Given the description of an element on the screen output the (x, y) to click on. 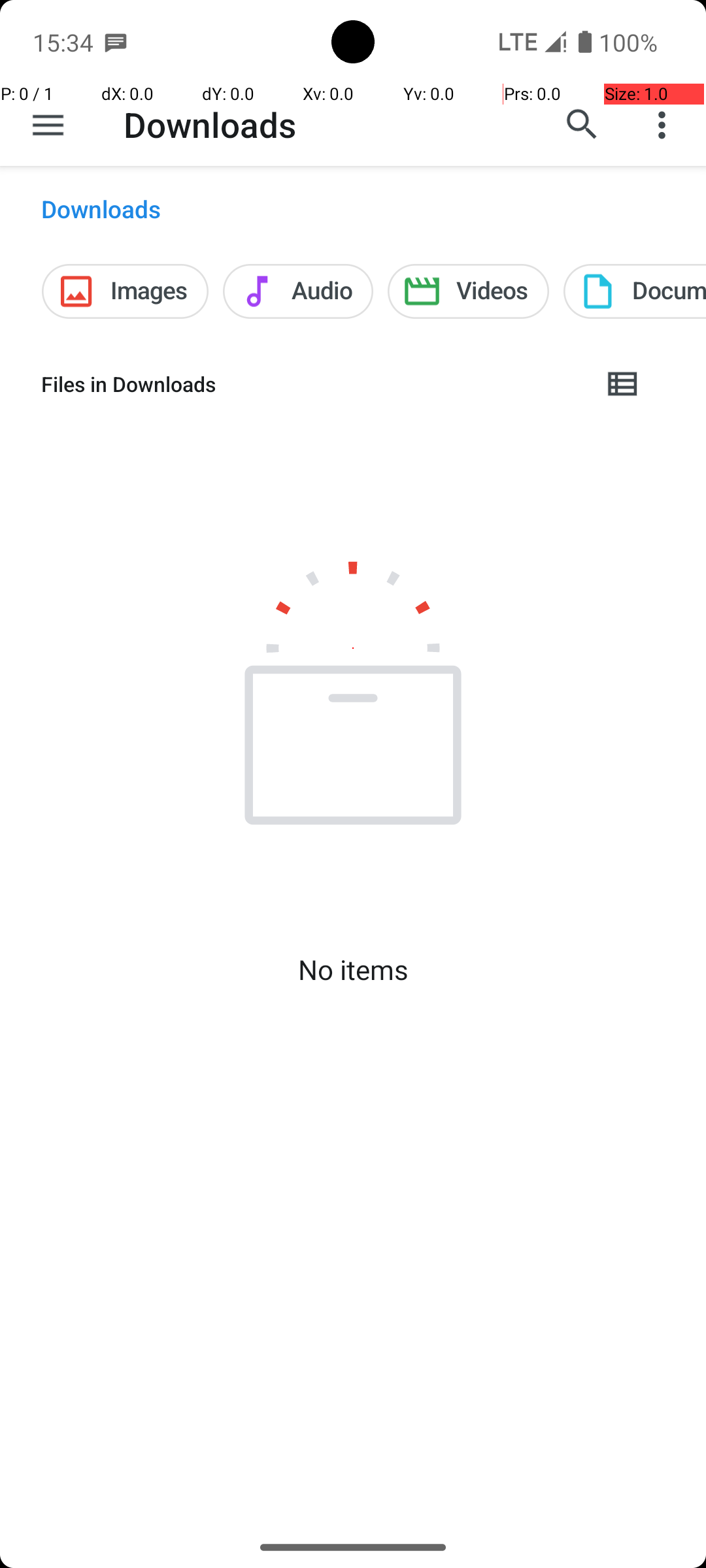
SMS Messenger notification: +15505050843 Element type: android.widget.ImageView (115, 41)
